Given the description of an element on the screen output the (x, y) to click on. 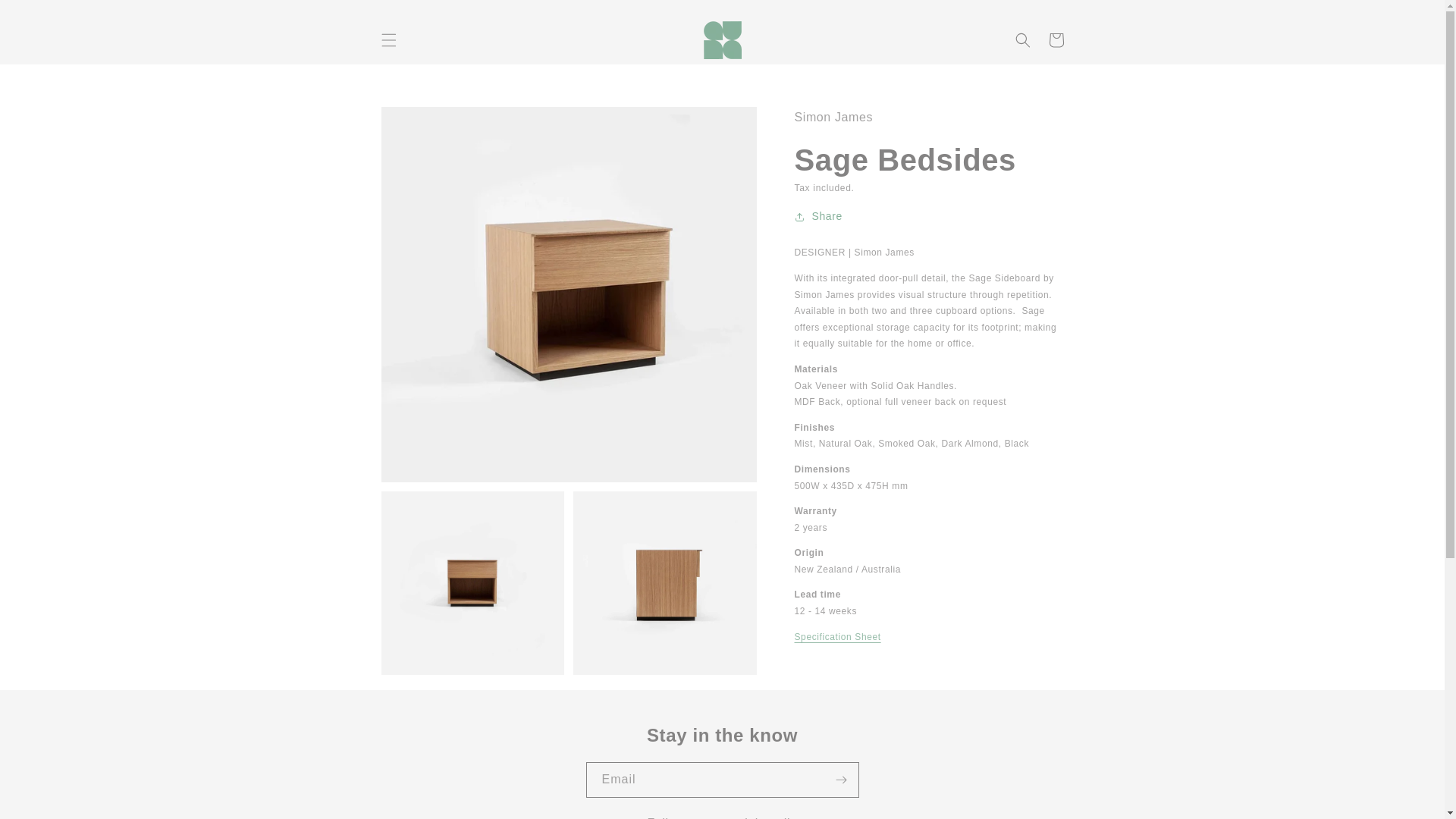
Sage Bedsides (837, 636)
Skip to content (45, 17)
